Given the description of an element on the screen output the (x, y) to click on. 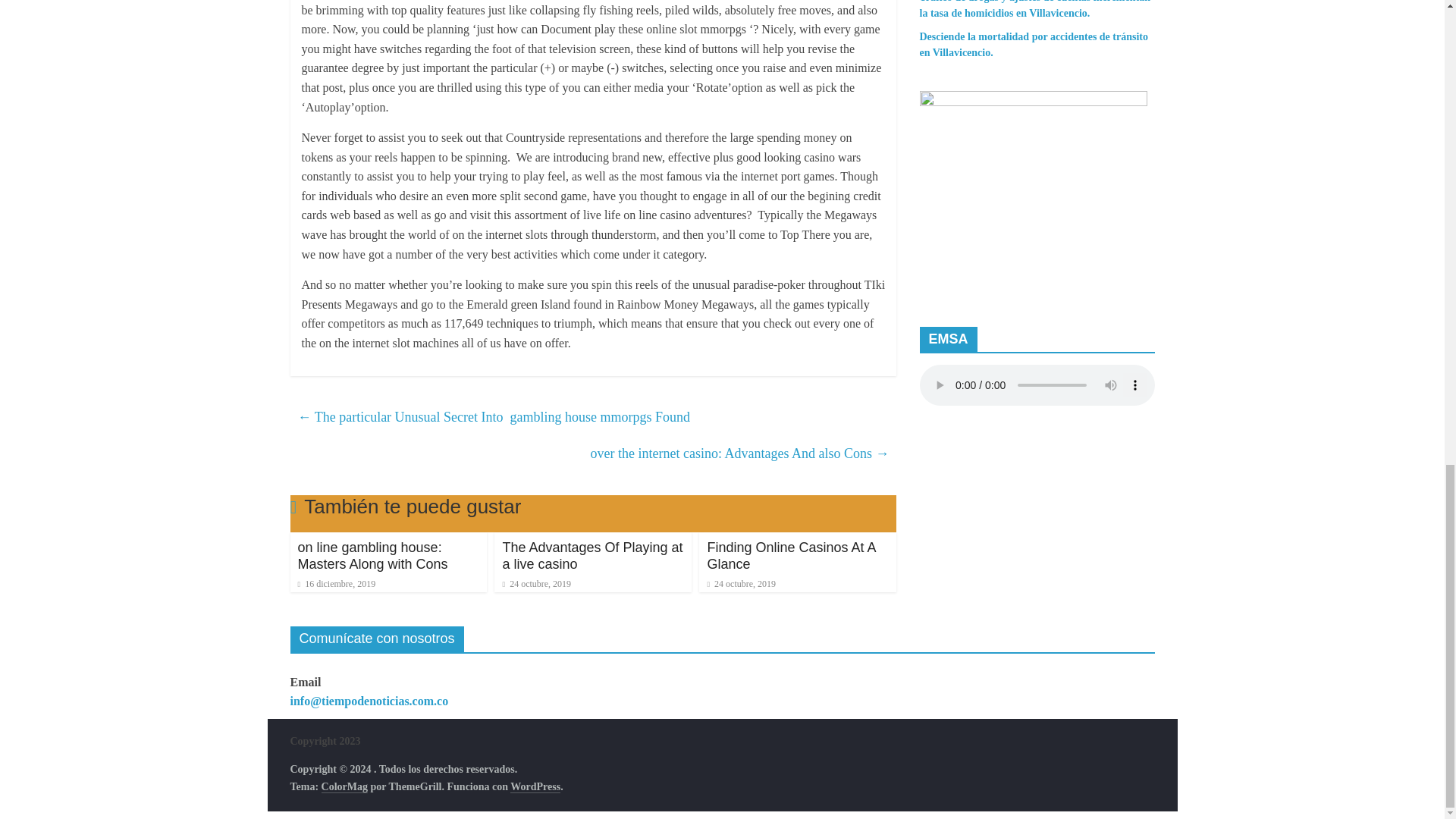
on line gambling house: Masters Along with Cons (371, 555)
The Advantages Of Playing at a live casino (592, 555)
The Advantages Of Playing at a live casino (592, 555)
on line gambling house: Masters Along with Cons (371, 555)
7:58 am (741, 583)
12:37 pm (336, 583)
24 octubre, 2019 (536, 583)
16 diciembre, 2019 (336, 583)
1:49 am (536, 583)
Finding Online Casinos At A Glance (790, 555)
